Given the description of an element on the screen output the (x, y) to click on. 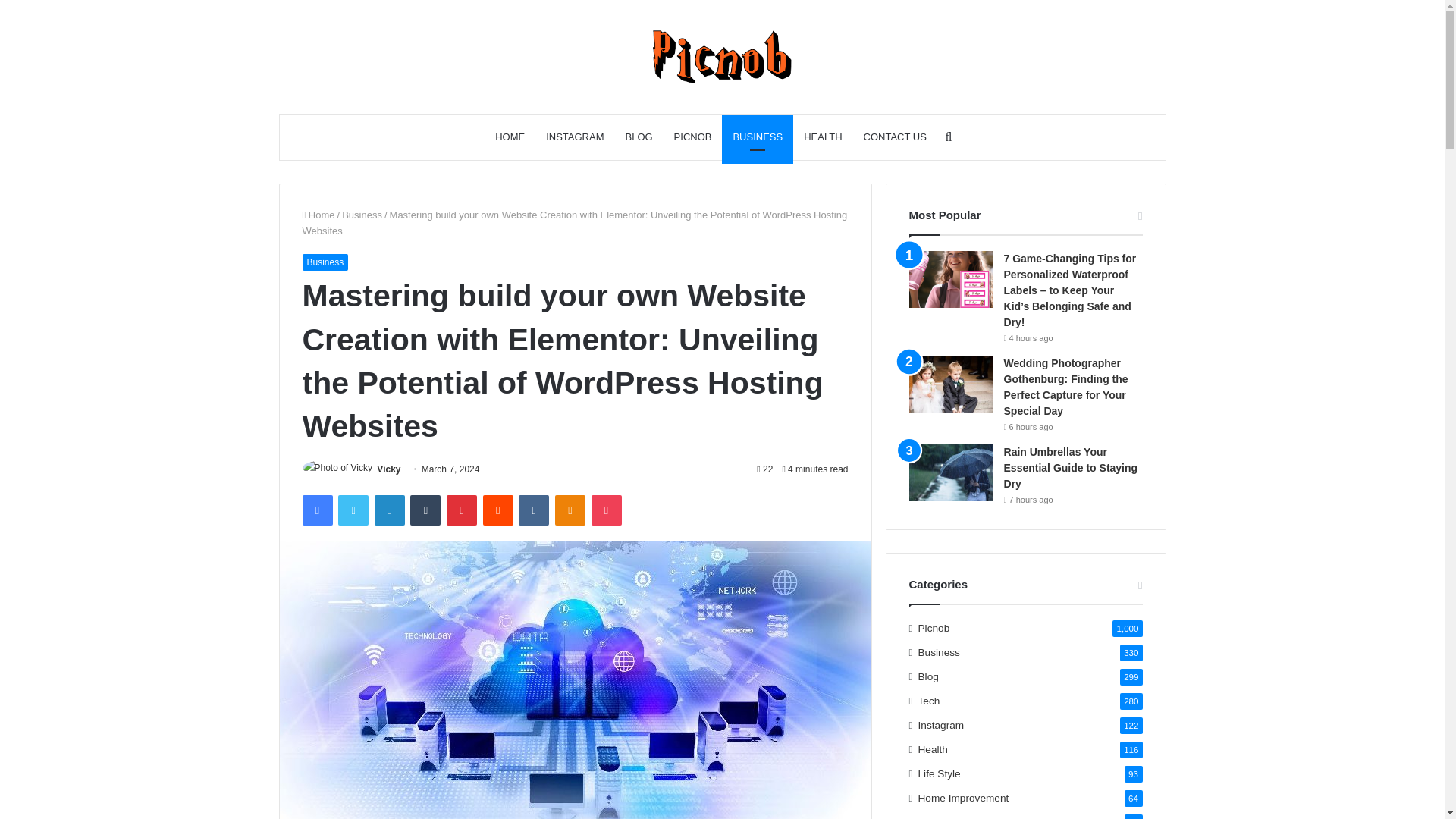
LinkedIn (389, 510)
BUSINESS (757, 136)
VKontakte (533, 510)
Pinterest (461, 510)
PICNOB (692, 136)
VKontakte (533, 510)
HEALTH (822, 136)
Facebook (316, 510)
Twitter (352, 510)
LinkedIn (389, 510)
